Given the description of an element on the screen output the (x, y) to click on. 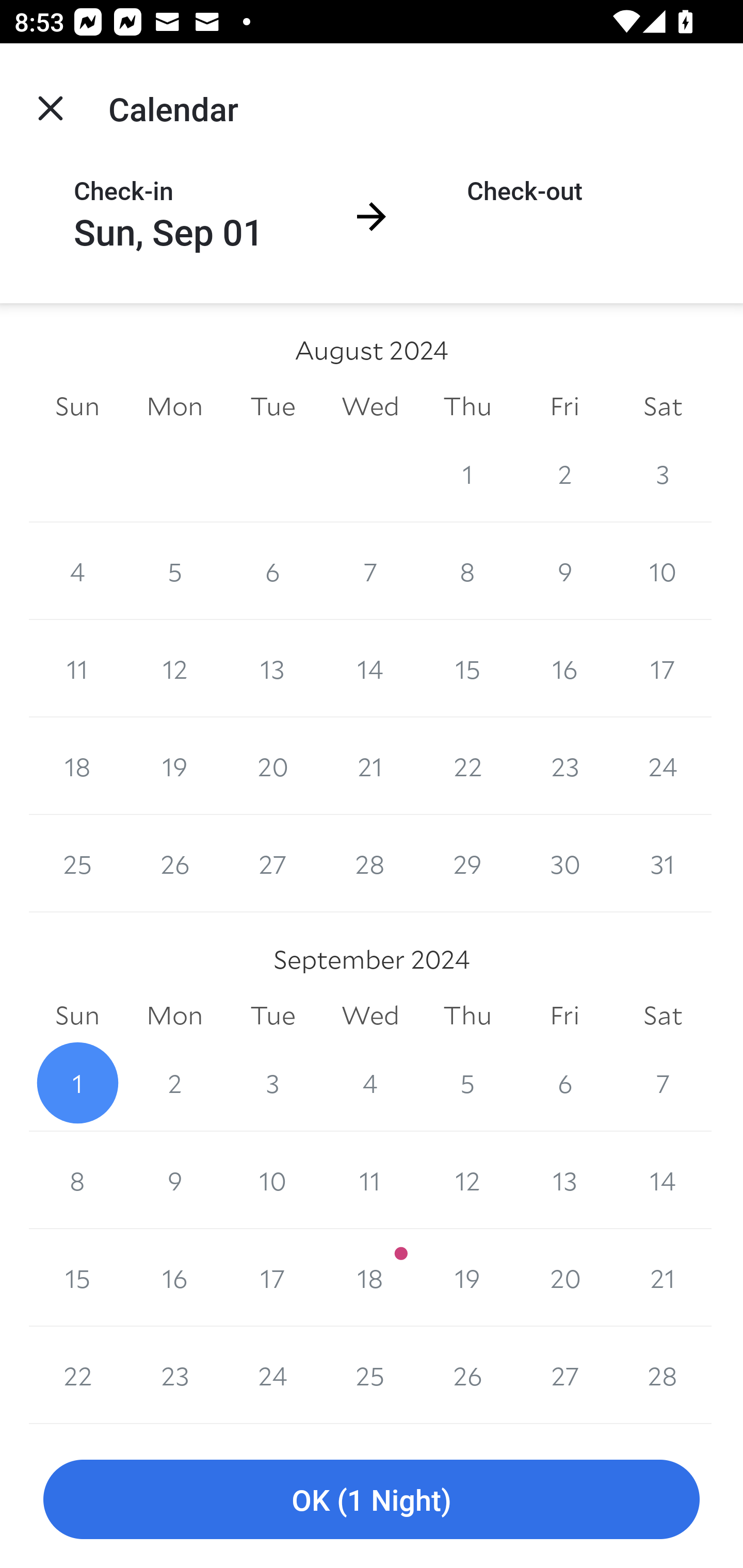
Sun (77, 405)
Mon (174, 405)
Tue (272, 405)
Wed (370, 405)
Thu (467, 405)
Fri (564, 405)
Sat (662, 405)
29 29 August 2024 (174, 473)
30 30 August 2024 (272, 473)
31 31 August 2024 (370, 473)
1 1 August 2024 (467, 473)
2 2 August 2024 (564, 473)
3 3 August 2024 (662, 473)
4 4 August 2024 (77, 570)
5 5 August 2024 (174, 570)
6 6 August 2024 (272, 570)
7 7 August 2024 (370, 570)
8 8 August 2024 (467, 570)
9 9 August 2024 (564, 570)
10 10 August 2024 (662, 570)
11 11 August 2024 (77, 668)
12 12 August 2024 (174, 668)
13 13 August 2024 (272, 668)
14 14 August 2024 (370, 668)
15 15 August 2024 (467, 668)
16 16 August 2024 (564, 668)
17 17 August 2024 (662, 668)
18 18 August 2024 (77, 766)
19 19 August 2024 (174, 766)
20 20 August 2024 (272, 766)
21 21 August 2024 (370, 766)
22 22 August 2024 (467, 766)
23 23 August 2024 (564, 766)
24 24 August 2024 (662, 766)
25 25 August 2024 (77, 863)
26 26 August 2024 (174, 863)
27 27 August 2024 (272, 863)
28 28 August 2024 (370, 863)
29 29 August 2024 (467, 863)
30 30 August 2024 (564, 863)
31 31 August 2024 (662, 863)
Sun (77, 1015)
Mon (174, 1015)
Tue (272, 1015)
Wed (370, 1015)
Thu (467, 1015)
Fri (564, 1015)
Sat (662, 1015)
1 1 September 2024 (77, 1083)
2 2 September 2024 (174, 1083)
3 3 September 2024 (272, 1083)
4 4 September 2024 (370, 1083)
5 5 September 2024 (467, 1083)
6 6 September 2024 (564, 1083)
7 7 September 2024 (662, 1083)
8 8 September 2024 (77, 1180)
9 9 September 2024 (174, 1180)
10 10 September 2024 (272, 1180)
11 11 September 2024 (370, 1180)
12 12 September 2024 (467, 1180)
13 13 September 2024 (564, 1180)
14 14 September 2024 (662, 1180)
15 15 September 2024 (77, 1277)
16 16 September 2024 (174, 1277)
17 17 September 2024 (272, 1277)
18 18 September 2024 (370, 1277)
19 19 September 2024 (467, 1277)
20 20 September 2024 (564, 1277)
21 21 September 2024 (662, 1277)
22 22 September 2024 (77, 1374)
23 23 September 2024 (174, 1374)
24 24 September 2024 (272, 1374)
25 25 September 2024 (370, 1374)
26 26 September 2024 (467, 1374)
27 27 September 2024 (564, 1374)
28 28 September 2024 (662, 1374)
OK (1 Night) (371, 1499)
